Given the description of an element on the screen output the (x, y) to click on. 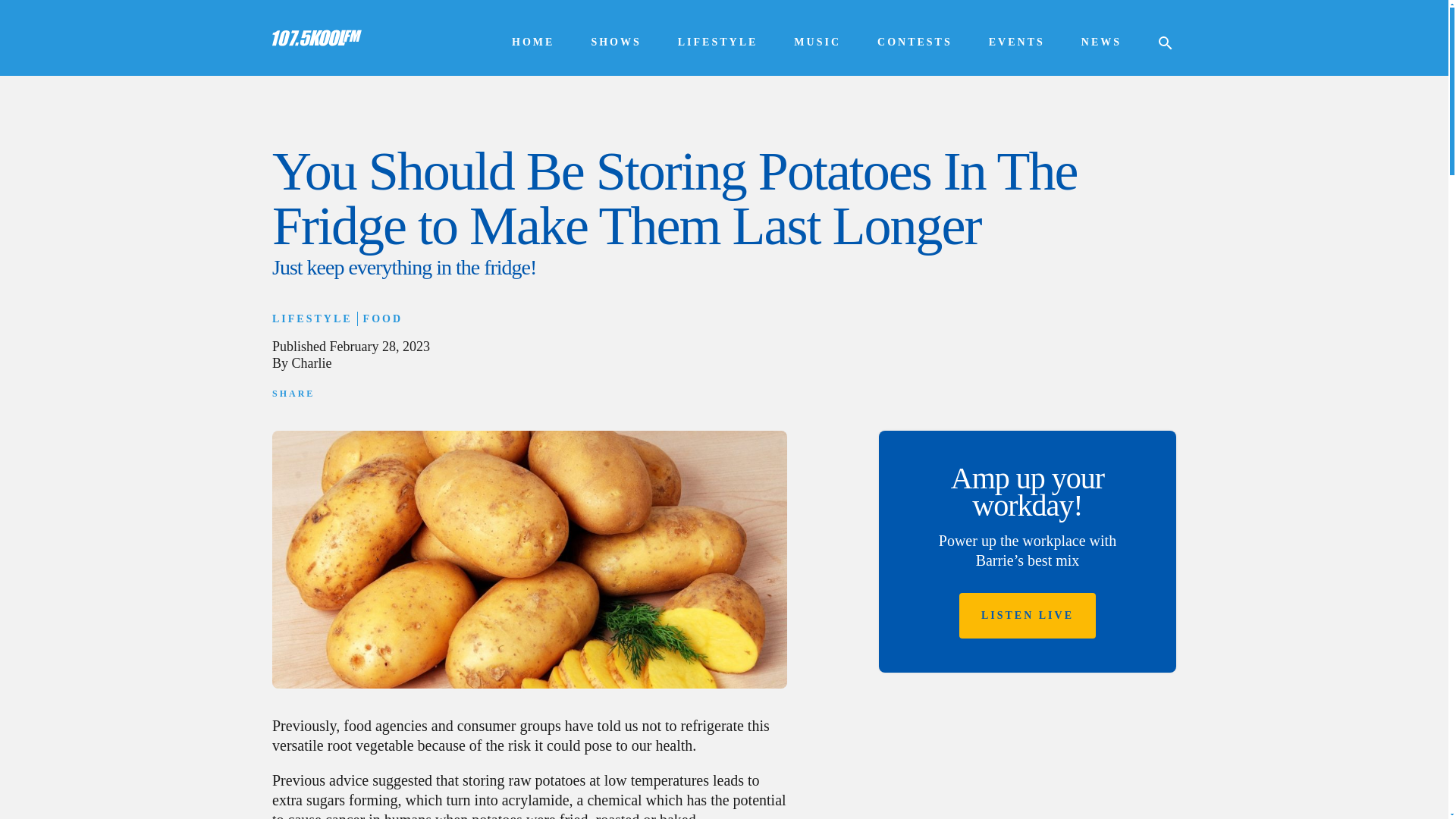
View all posts in Lifestyle (312, 318)
LIFESTYLE (718, 42)
HOME (533, 42)
NEWS (1101, 42)
SHOWS (615, 42)
Search (29, 11)
MUSIC (817, 42)
LIFESTYLE (312, 318)
CONTESTS (914, 42)
FOOD (382, 318)
View all posts in Food (382, 318)
EVENTS (1016, 42)
